Given the description of an element on the screen output the (x, y) to click on. 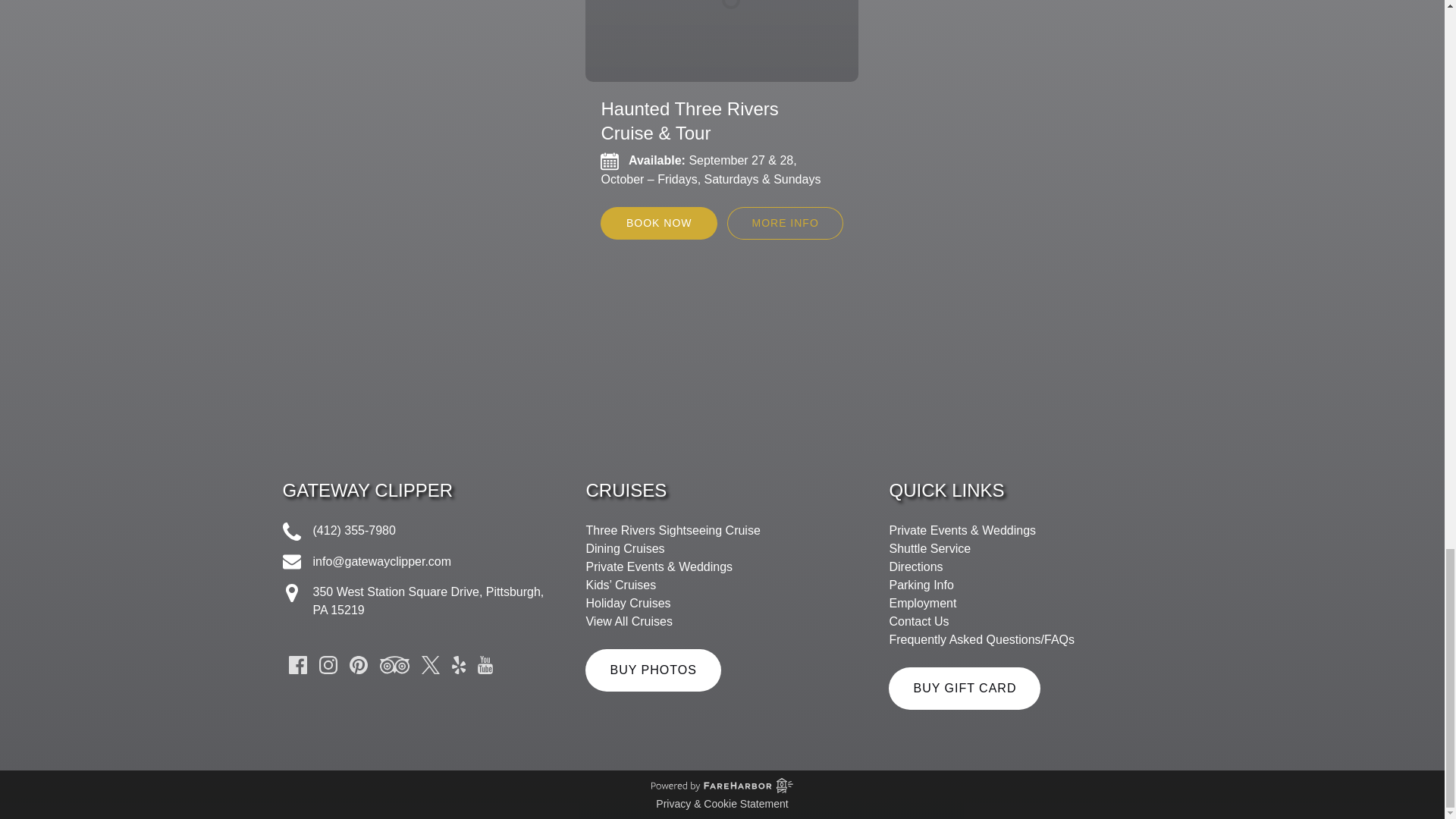
Map Marker (290, 592)
Envelope (290, 561)
Phone (290, 530)
Calendar (608, 161)
